Given the description of an element on the screen output the (x, y) to click on. 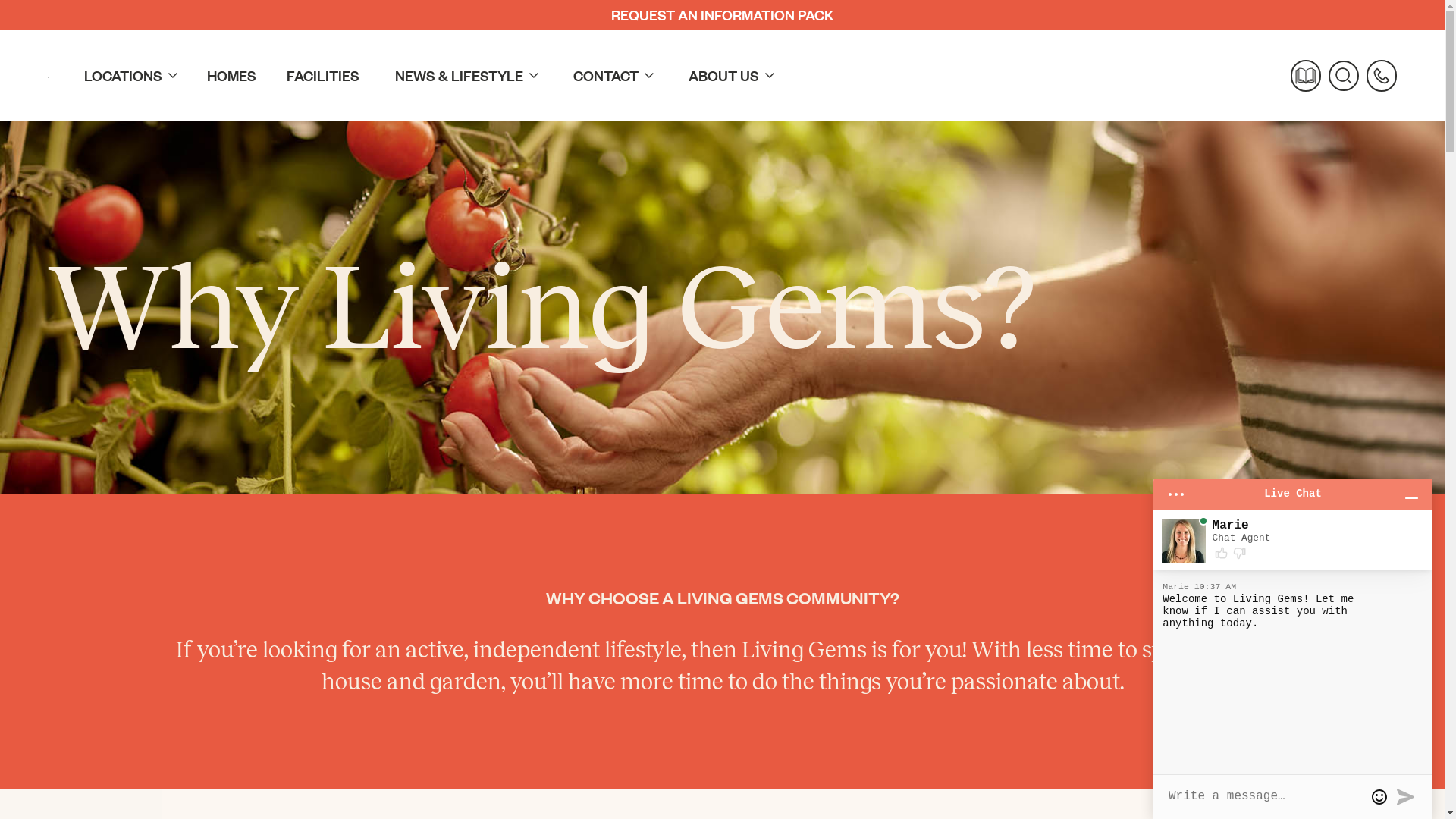
NEWS & LIFESTYLE Element type: text (455, 75)
HOMES Element type: text (223, 75)
LOCATIONS Element type: text (119, 75)
CONTACT Element type: text (602, 75)
ABOUT US Element type: text (720, 75)
Search Element type: hover (1343, 75)
FACILITIES Element type: text (315, 75)
